Given the description of an element on the screen output the (x, y) to click on. 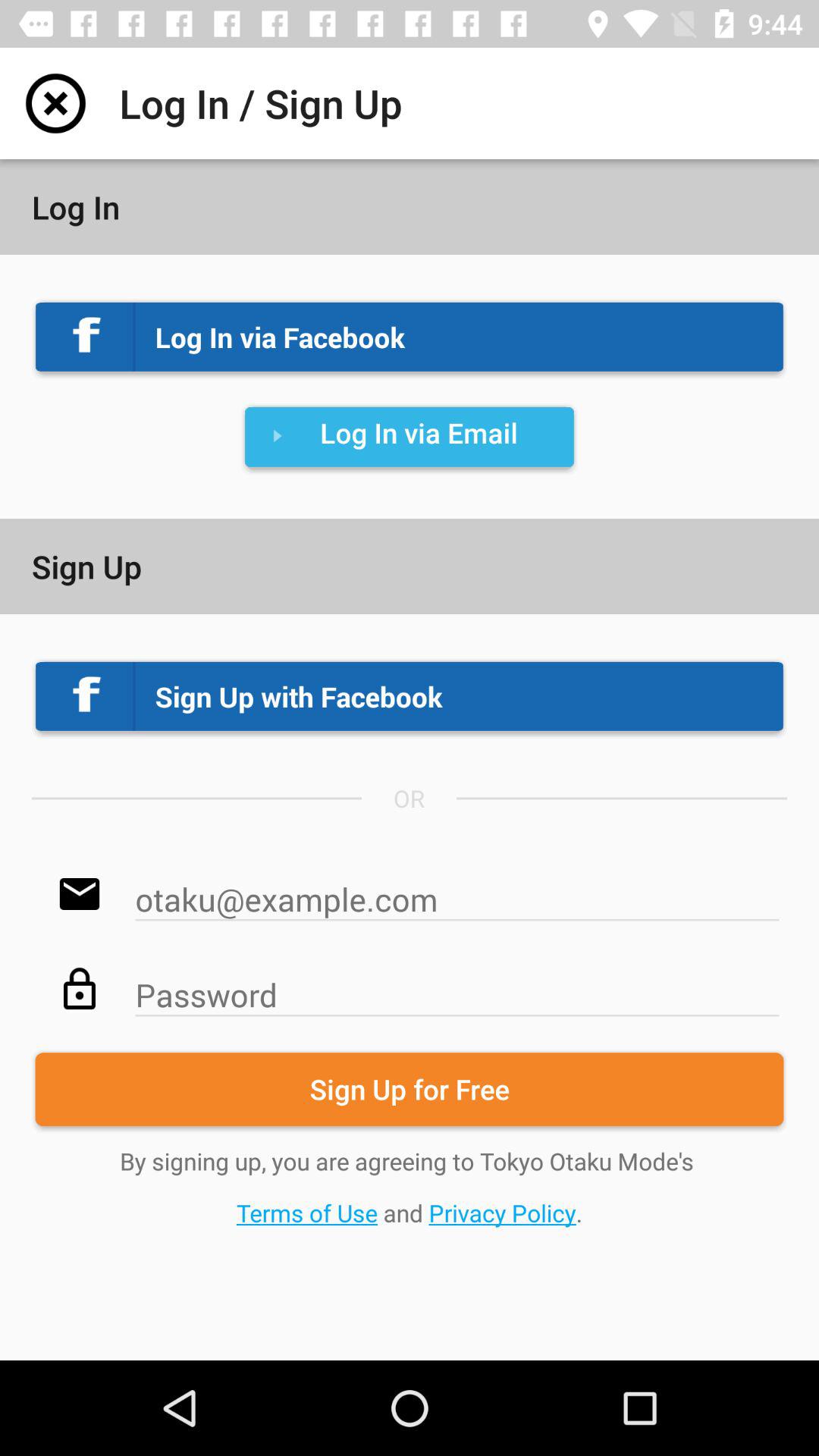
turn off by signing up (409, 1186)
